Given the description of an element on the screen output the (x, y) to click on. 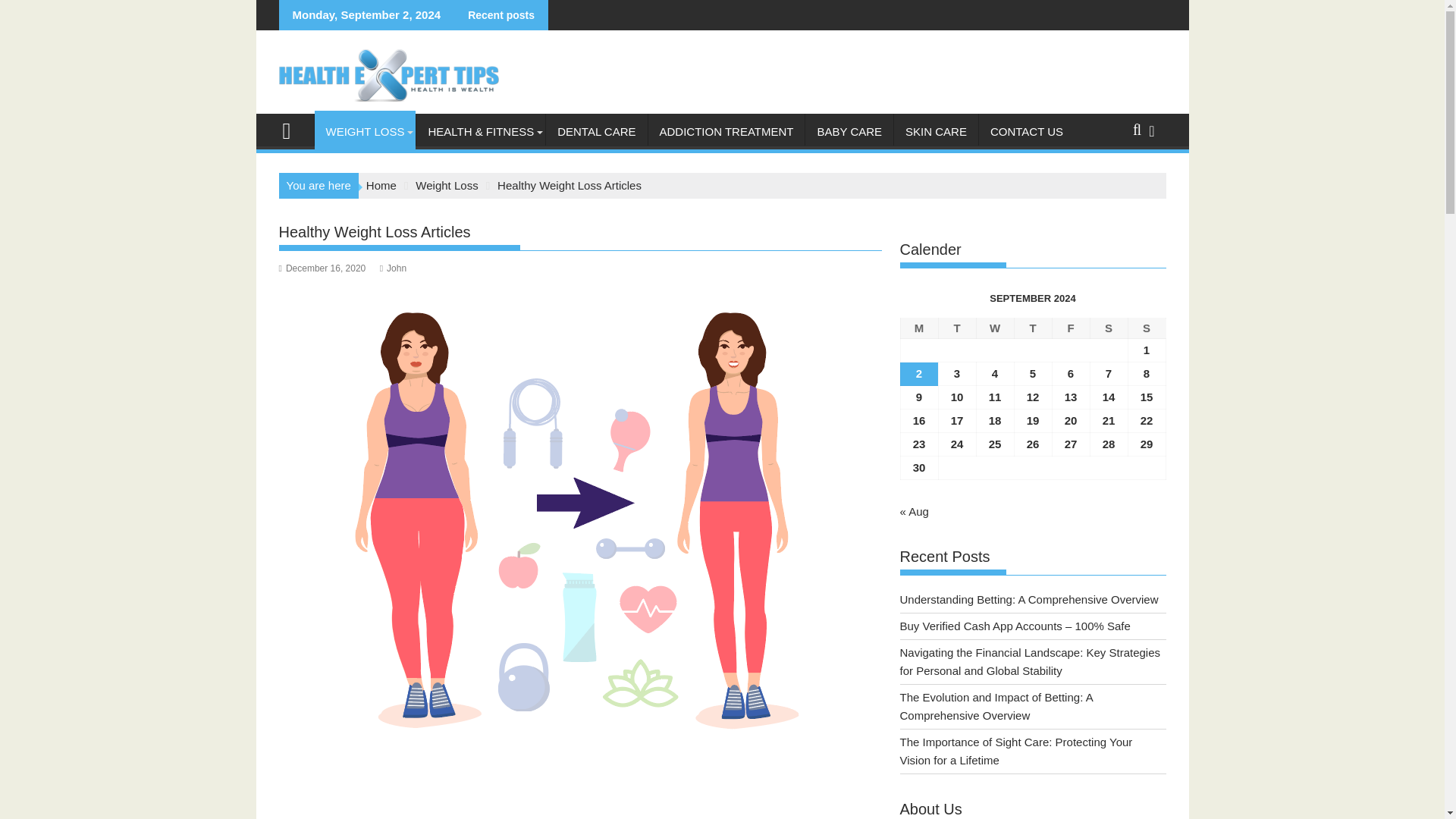
ADDICTION TREATMENT (726, 131)
WEIGHT LOSS (364, 131)
CONTACT US (1026, 131)
DENTAL CARE (596, 131)
John (393, 267)
December 16, 2020 (322, 267)
Home (381, 185)
Friday (1070, 328)
BABY CARE (849, 131)
Monday (918, 328)
